Given the description of an element on the screen output the (x, y) to click on. 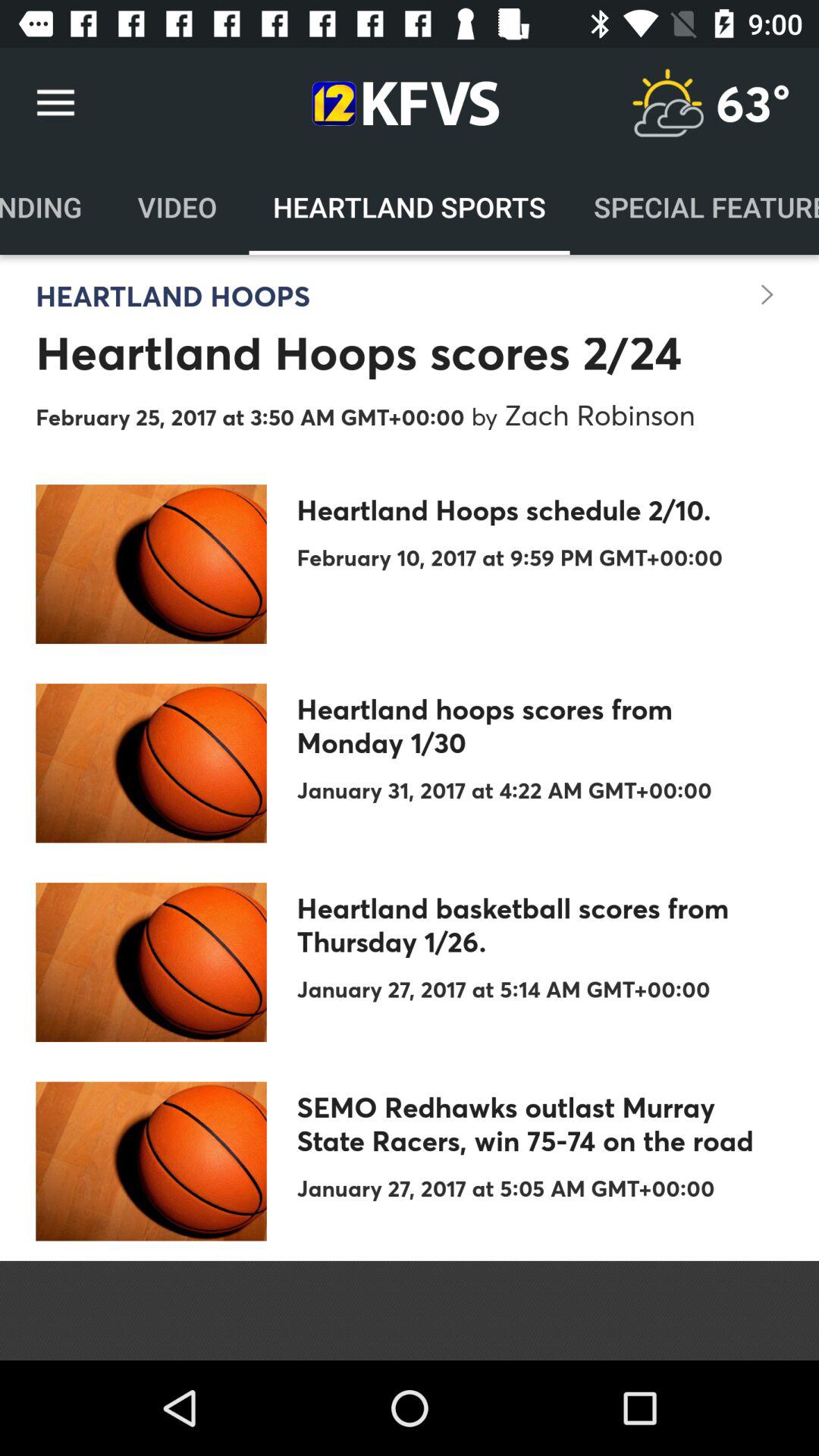
select the tab video on the web page (177, 206)
